Given the description of an element on the screen output the (x, y) to click on. 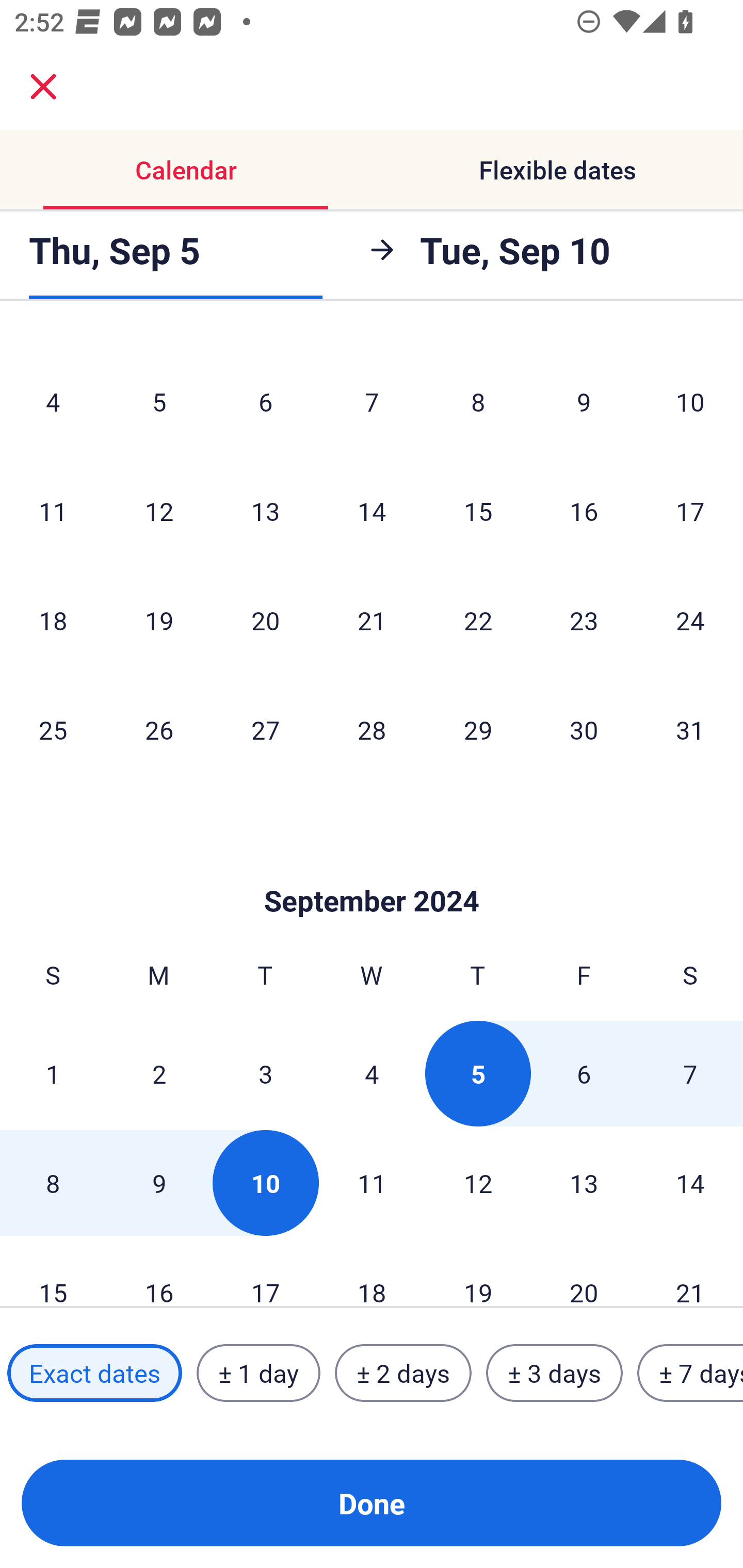
close. (43, 86)
Flexible dates (557, 170)
4 Sunday, August 4, 2024 (53, 401)
5 Monday, August 5, 2024 (159, 401)
6 Tuesday, August 6, 2024 (265, 401)
7 Wednesday, August 7, 2024 (371, 401)
8 Thursday, August 8, 2024 (477, 401)
9 Friday, August 9, 2024 (584, 401)
10 Saturday, August 10, 2024 (690, 401)
11 Sunday, August 11, 2024 (53, 510)
12 Monday, August 12, 2024 (159, 510)
13 Tuesday, August 13, 2024 (265, 510)
14 Wednesday, August 14, 2024 (371, 510)
15 Thursday, August 15, 2024 (477, 510)
16 Friday, August 16, 2024 (584, 510)
17 Saturday, August 17, 2024 (690, 510)
18 Sunday, August 18, 2024 (53, 619)
19 Monday, August 19, 2024 (159, 619)
20 Tuesday, August 20, 2024 (265, 619)
21 Wednesday, August 21, 2024 (371, 619)
22 Thursday, August 22, 2024 (477, 619)
23 Friday, August 23, 2024 (584, 619)
24 Saturday, August 24, 2024 (690, 619)
25 Sunday, August 25, 2024 (53, 729)
26 Monday, August 26, 2024 (159, 729)
27 Tuesday, August 27, 2024 (265, 729)
28 Wednesday, August 28, 2024 (371, 729)
29 Thursday, August 29, 2024 (477, 729)
30 Friday, August 30, 2024 (584, 729)
31 Saturday, August 31, 2024 (690, 729)
Skip to Done (371, 870)
1 Sunday, September 1, 2024 (53, 1072)
2 Monday, September 2, 2024 (159, 1072)
3 Tuesday, September 3, 2024 (265, 1072)
4 Wednesday, September 4, 2024 (371, 1072)
11 Wednesday, September 11, 2024 (371, 1182)
12 Thursday, September 12, 2024 (477, 1182)
13 Friday, September 13, 2024 (584, 1182)
14 Saturday, September 14, 2024 (690, 1182)
15 Sunday, September 15, 2024 (53, 1272)
16 Monday, September 16, 2024 (159, 1272)
17 Tuesday, September 17, 2024 (265, 1272)
18 Wednesday, September 18, 2024 (371, 1272)
19 Thursday, September 19, 2024 (477, 1272)
20 Friday, September 20, 2024 (584, 1272)
21 Saturday, September 21, 2024 (690, 1272)
Exact dates (94, 1372)
± 1 day (258, 1372)
± 2 days (403, 1372)
± 3 days (553, 1372)
± 7 days (690, 1372)
Done (371, 1502)
